Given the description of an element on the screen output the (x, y) to click on. 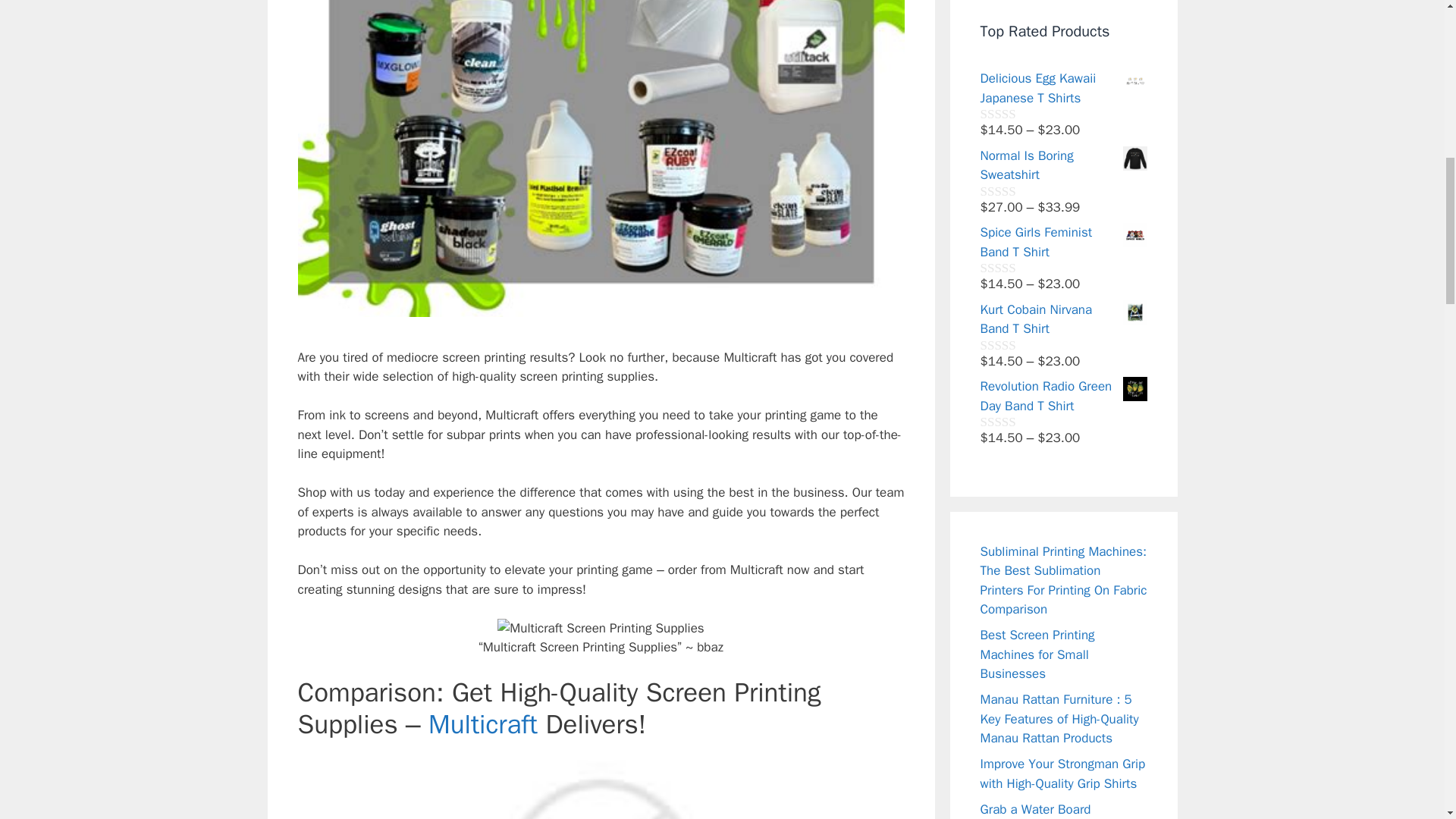
Delicious Egg Kawaii Japanese T Shirts (1063, 87)
Not yet rated (1014, 113)
Normal Is Boring Sweatshirt (1063, 164)
Spice Girls Feminist Band T Shirt (1063, 241)
Best Screen Printing Machines for Small Businesses (1036, 654)
Multicraft (482, 724)
Not yet rated (1014, 191)
Not yet rated (1014, 421)
Not yet rated (1014, 344)
Not yet rated (1014, 267)
Kurt Cobain Nirvana Band T Shirt (1063, 319)
Scroll back to top (1406, 720)
